Given the description of an element on the screen output the (x, y) to click on. 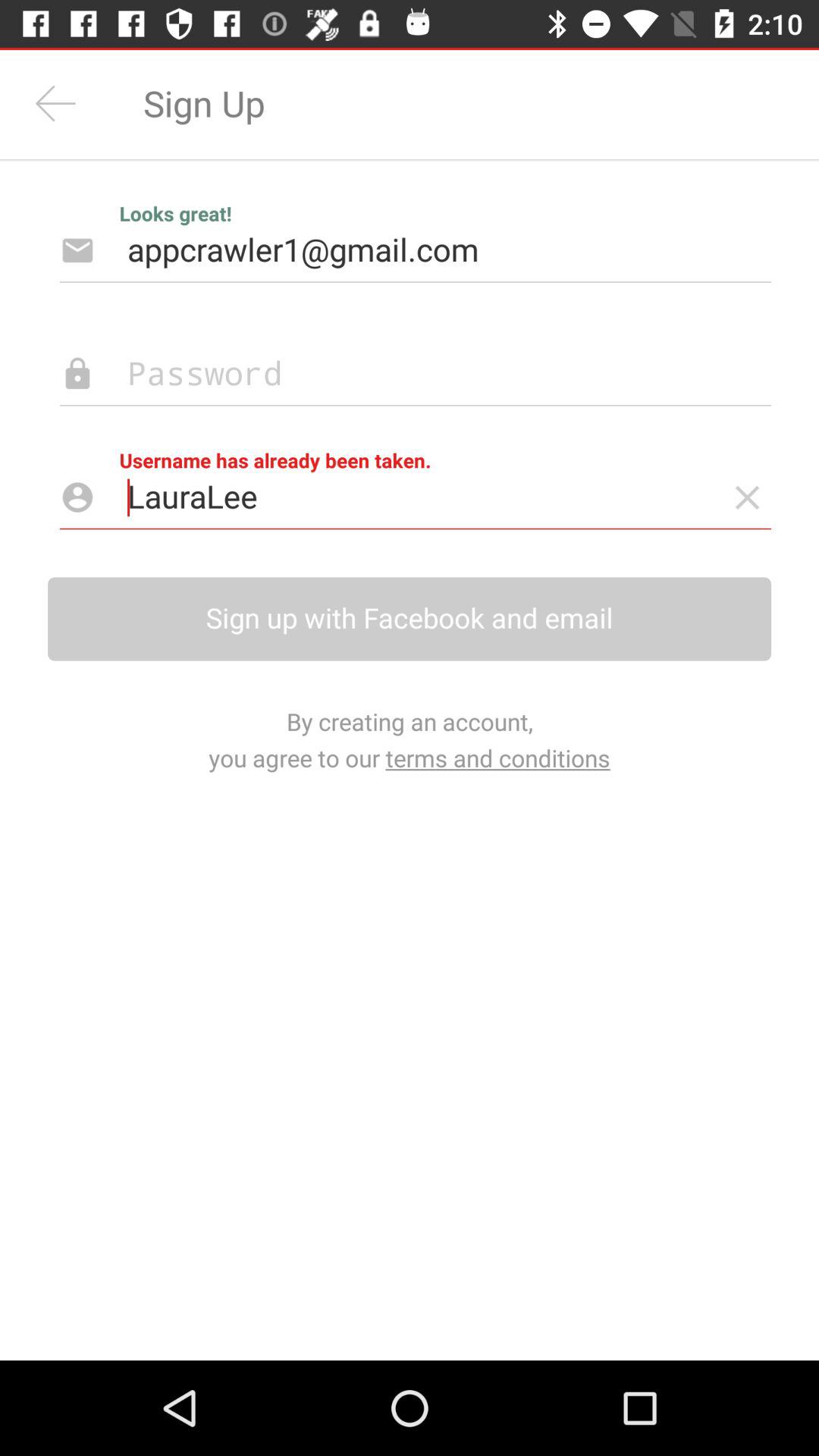
go back (55, 103)
